Given the description of an element on the screen output the (x, y) to click on. 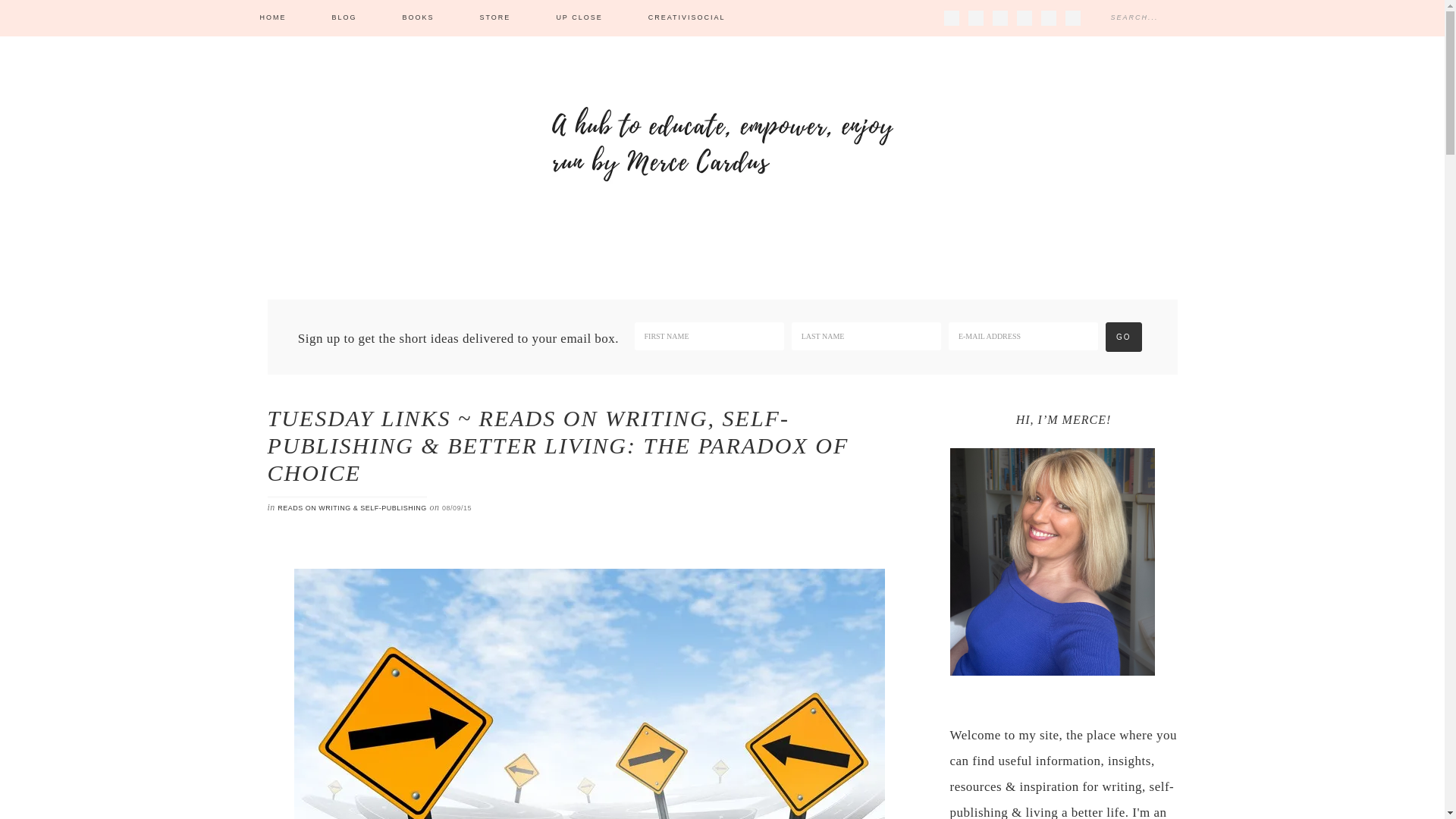
STORE (495, 18)
MERCE CARDUS (722, 143)
Go (1123, 337)
UP CLOSE (578, 18)
BOOKS (418, 18)
CREATIVISOCIAL (687, 18)
BLOG (344, 18)
HOME (271, 18)
Go (1123, 337)
